Given the description of an element on the screen output the (x, y) to click on. 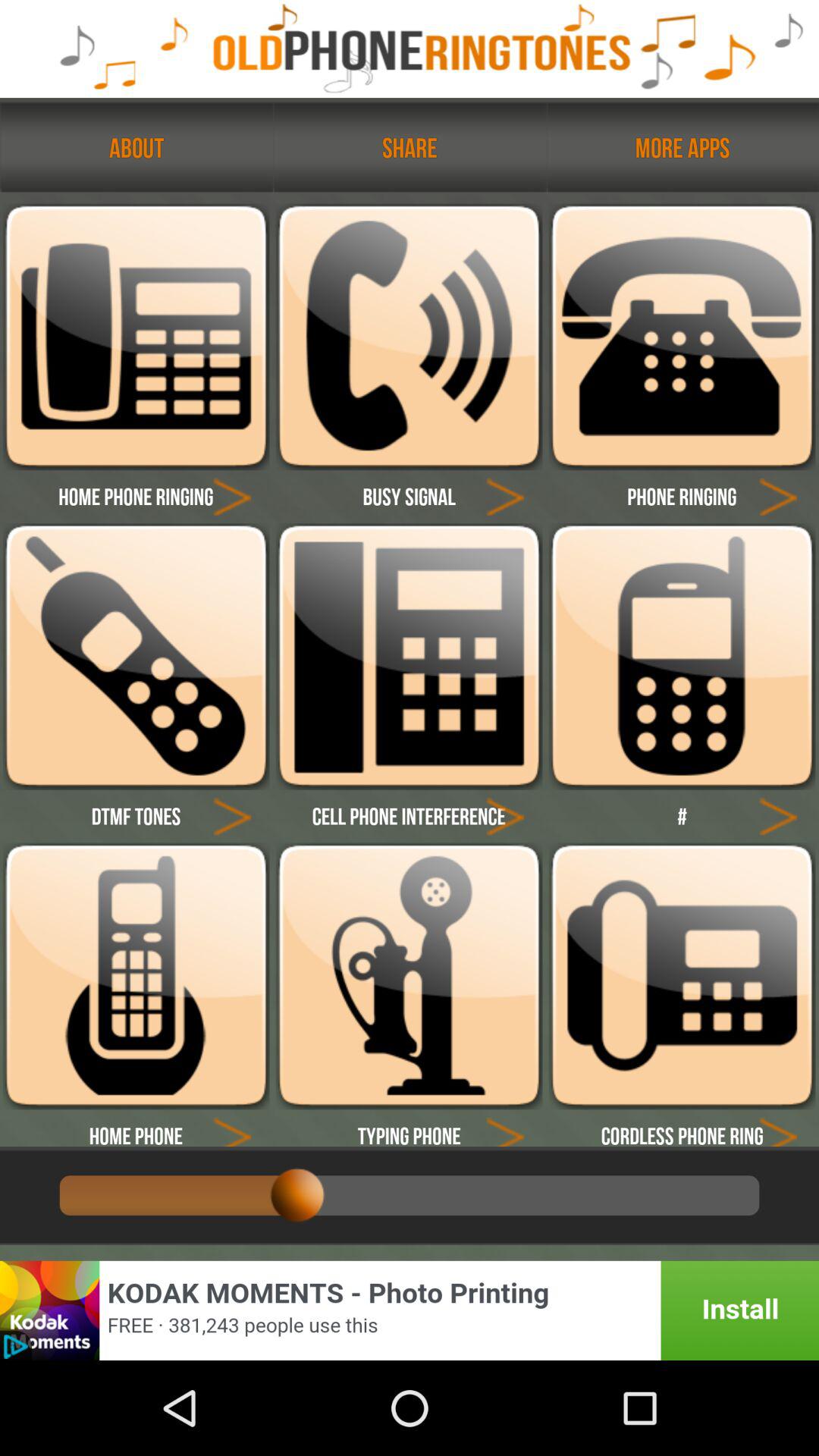
go (505, 815)
